Given the description of an element on the screen output the (x, y) to click on. 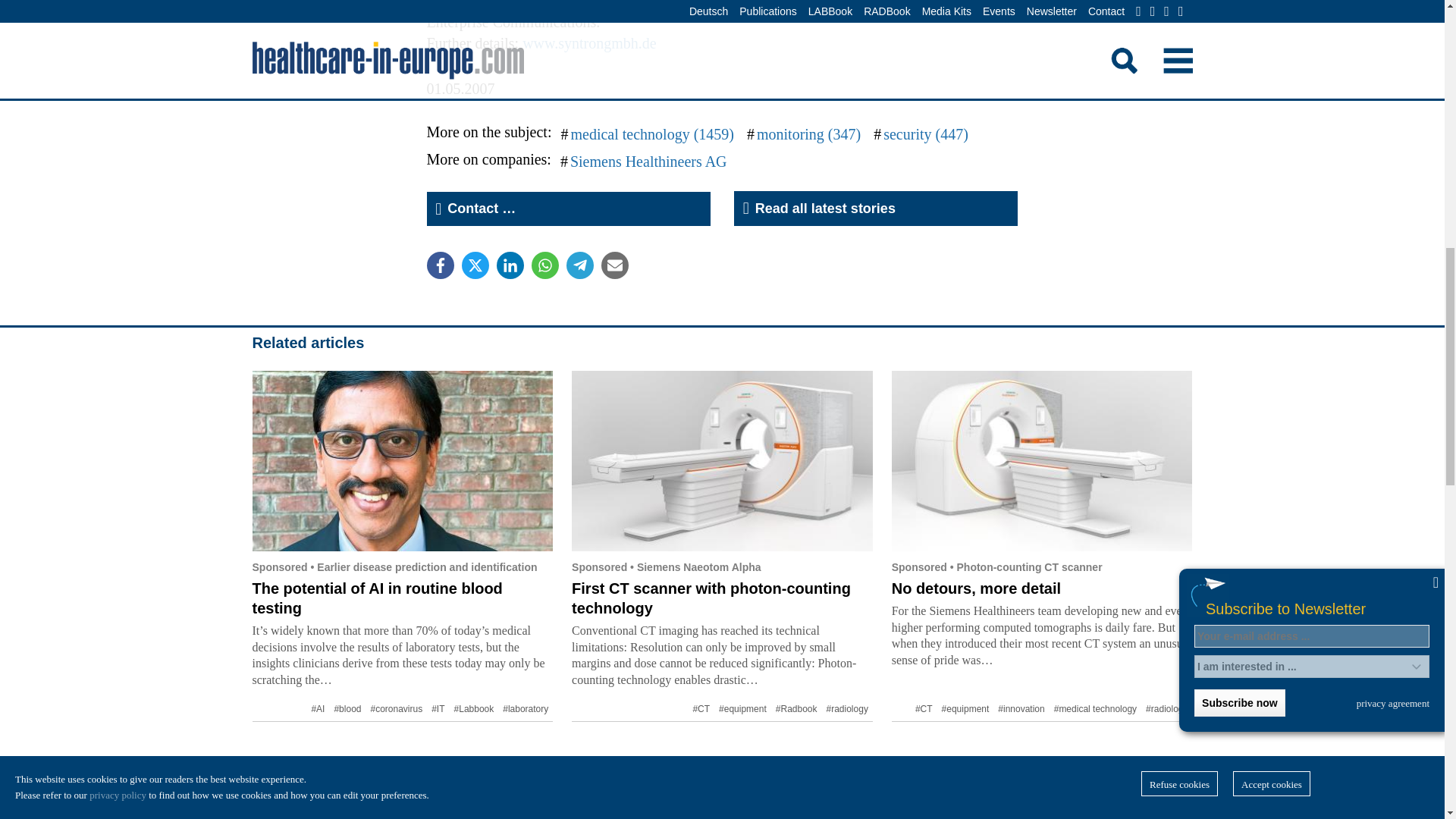
Siemens Healthineers AG (648, 161)
Read all latest stories (875, 208)
Share on Telegram (579, 265)
The potential of AI in routine blood testing (376, 597)
No detours, more detail (976, 588)
The potential of AI in routine blood testing (402, 461)
Share on facebook (439, 265)
No detours, more detail (1041, 461)
Share on WhatsApp (544, 265)
Share on Linked-in (509, 265)
